Given the description of an element on the screen output the (x, y) to click on. 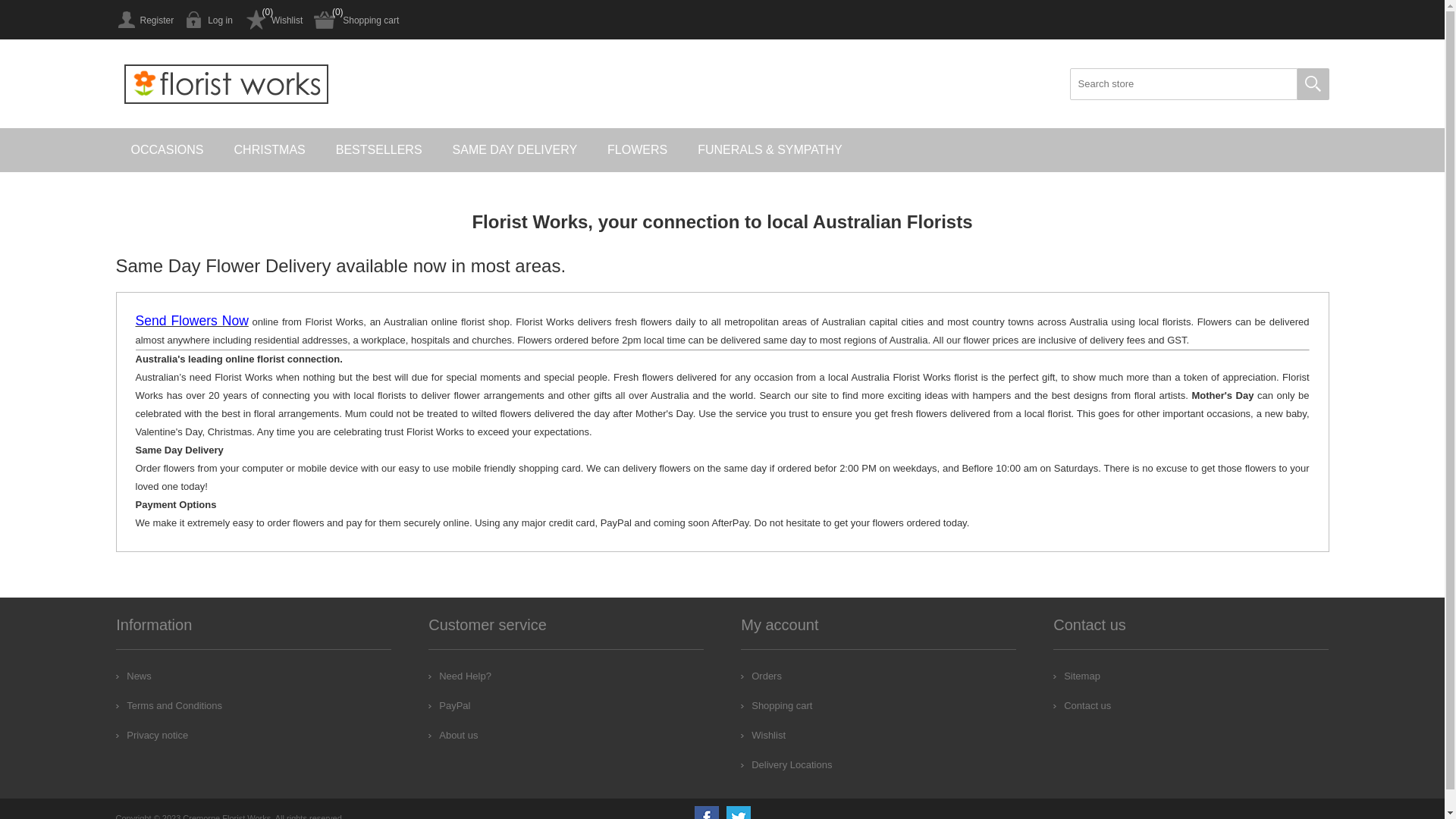
Send Flowers Now Element type: text (190, 321)
Shopping cart Element type: text (776, 705)
Terms and Conditions Element type: text (169, 705)
Wishlist Element type: text (762, 734)
Shopping cart Element type: text (355, 19)
Search Element type: text (1312, 84)
About us Element type: text (452, 734)
Wishlist Element type: text (273, 19)
SAME DAY DELIVERY Element type: text (515, 150)
News Element type: text (133, 675)
FLOWERS Element type: text (637, 150)
OCCASIONS Element type: text (166, 150)
Log in Element type: text (208, 19)
Contact us Element type: text (1081, 705)
Need Help? Element type: text (459, 675)
PayPal Element type: text (449, 705)
Privacy notice Element type: text (152, 734)
FUNERALS & SYMPATHY Element type: text (769, 150)
CHRISTMAS Element type: text (269, 150)
Delivery Locations Element type: text (785, 764)
BESTSELLERS Element type: text (378, 150)
Orders Element type: text (760, 675)
Register Element type: text (144, 19)
Sitemap Element type: text (1076, 675)
